Given the description of an element on the screen output the (x, y) to click on. 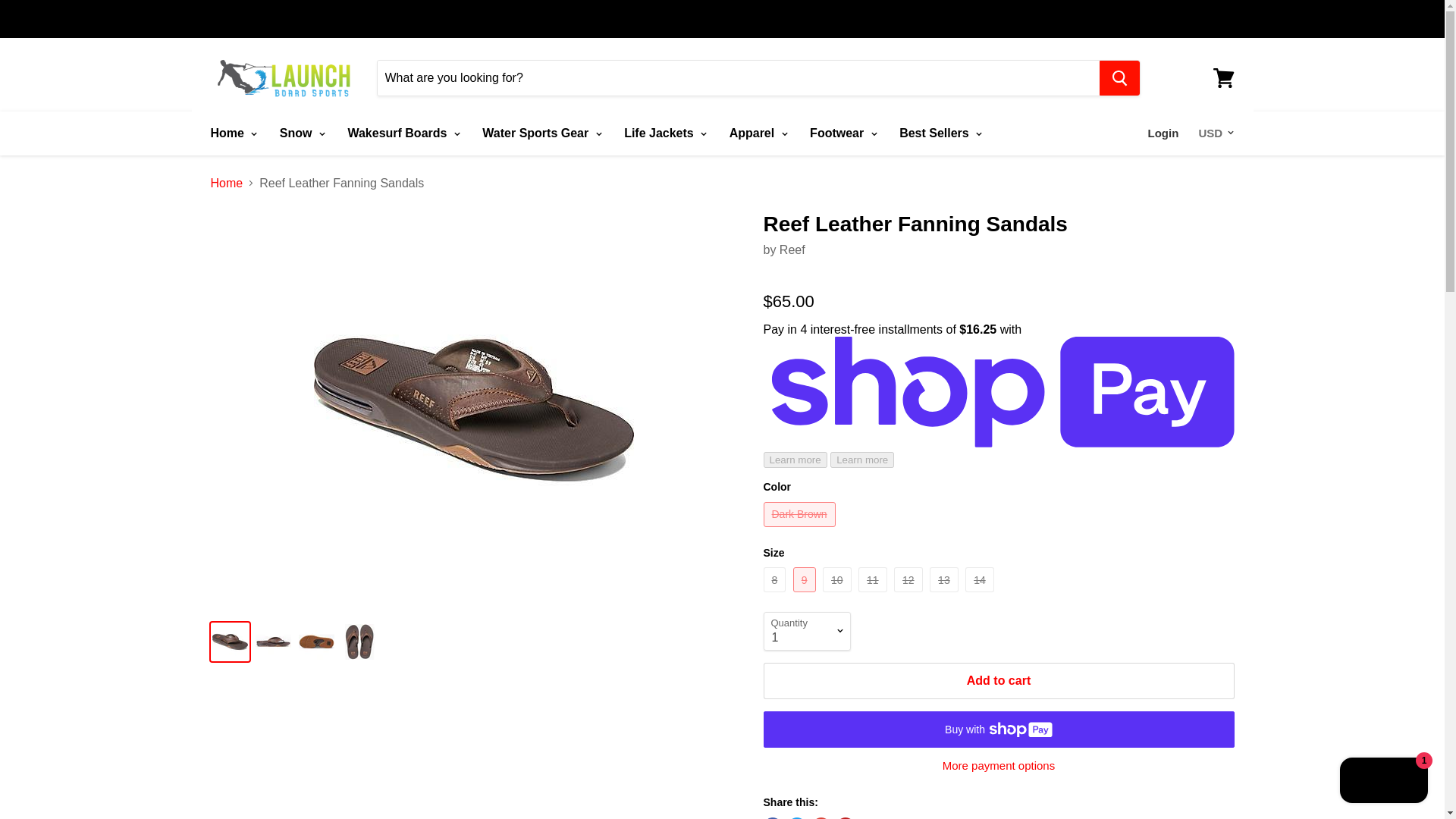
Shopify online store chat (1383, 781)
Home (231, 133)
Snow (300, 133)
View cart (1223, 77)
